Given the description of an element on the screen output the (x, y) to click on. 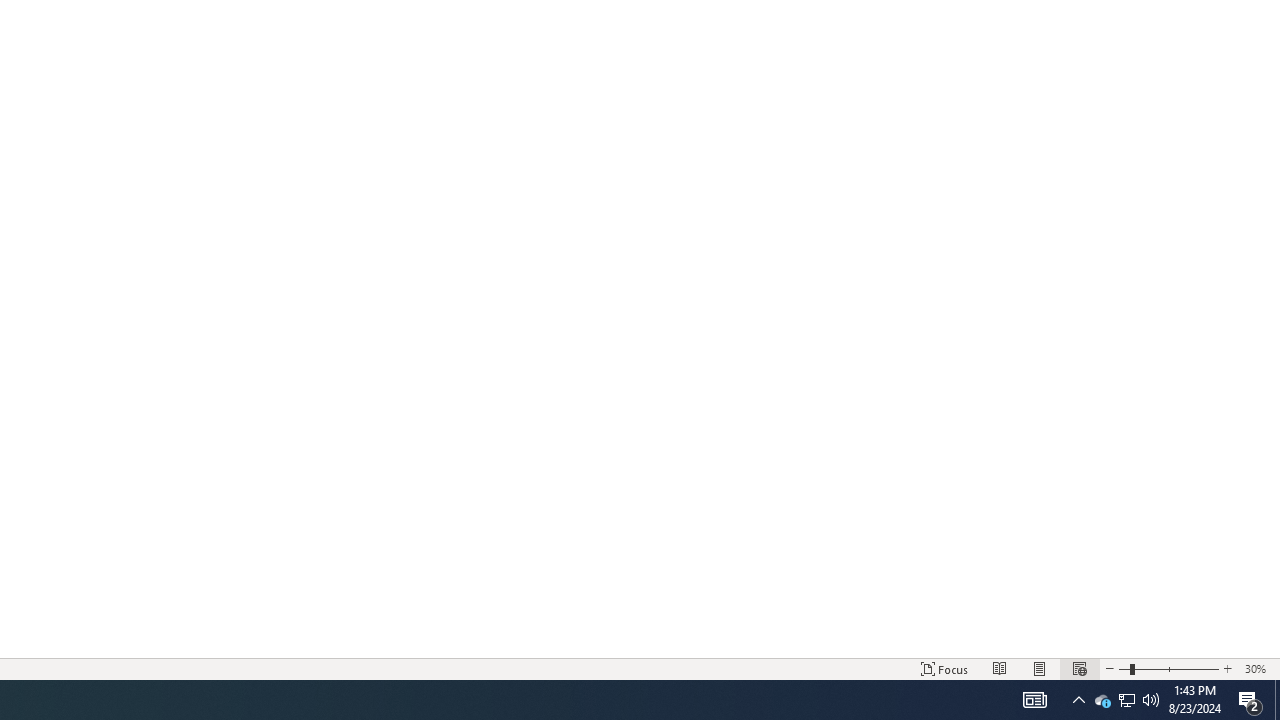
Focus  (944, 668)
Zoom Out (1124, 668)
Zoom In (1227, 668)
Read Mode (1000, 668)
Zoom 30% (1258, 668)
Zoom (1168, 668)
Print Layout (1039, 668)
Web Layout (1079, 668)
